Given the description of an element on the screen output the (x, y) to click on. 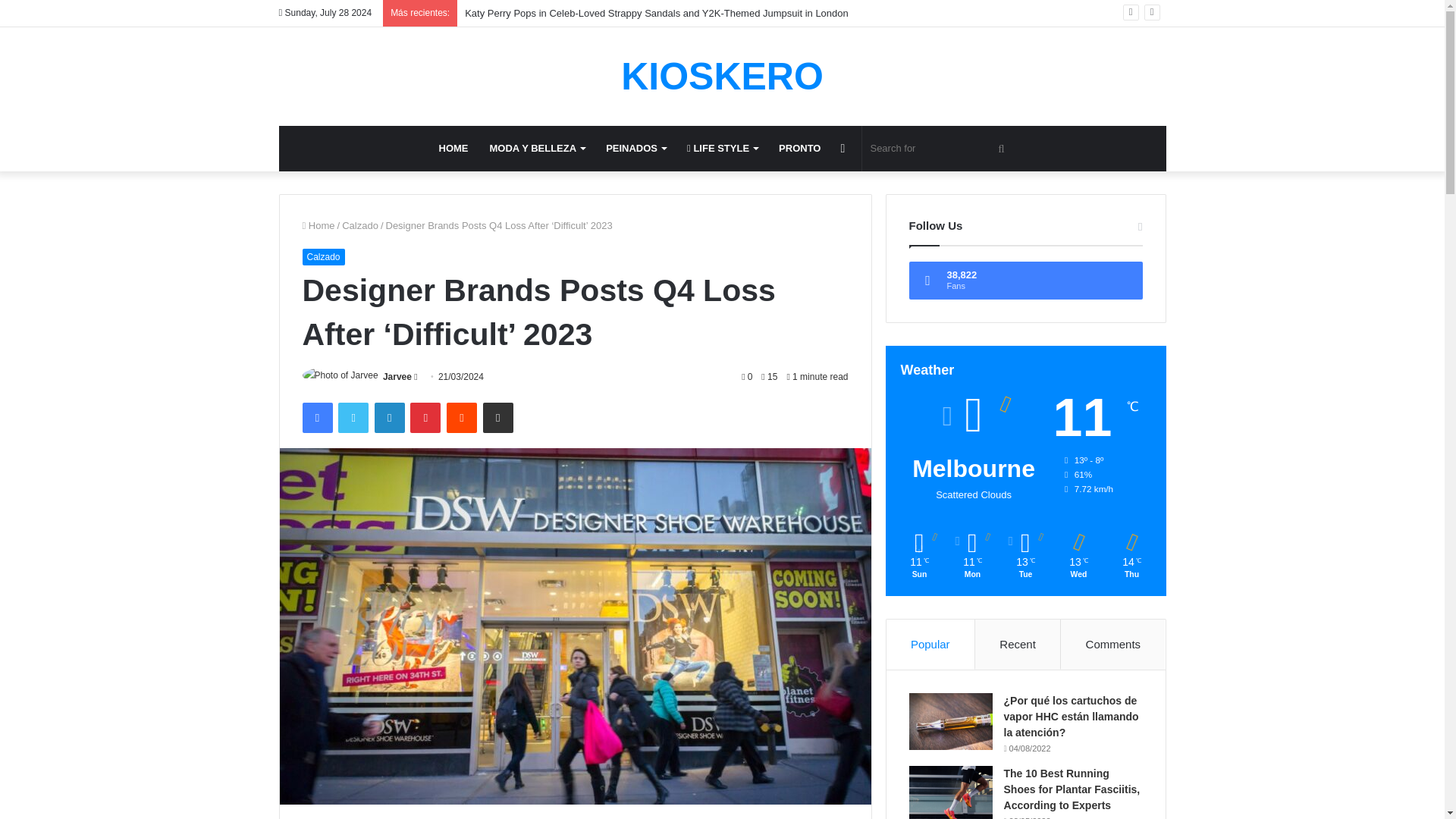
LIFE STYLE (722, 148)
Buy now! (799, 148)
Pinterest (425, 417)
MODA Y BELLEZA (537, 148)
Twitter (352, 417)
Calzado (360, 225)
Search for (938, 148)
KIOSKERO (722, 76)
PEINADOS (636, 148)
Reddit (461, 417)
Share via Email (498, 417)
Reddit (461, 417)
Jarvee (397, 376)
Pinterest (425, 417)
Jarvee (397, 376)
